Given the description of an element on the screen output the (x, y) to click on. 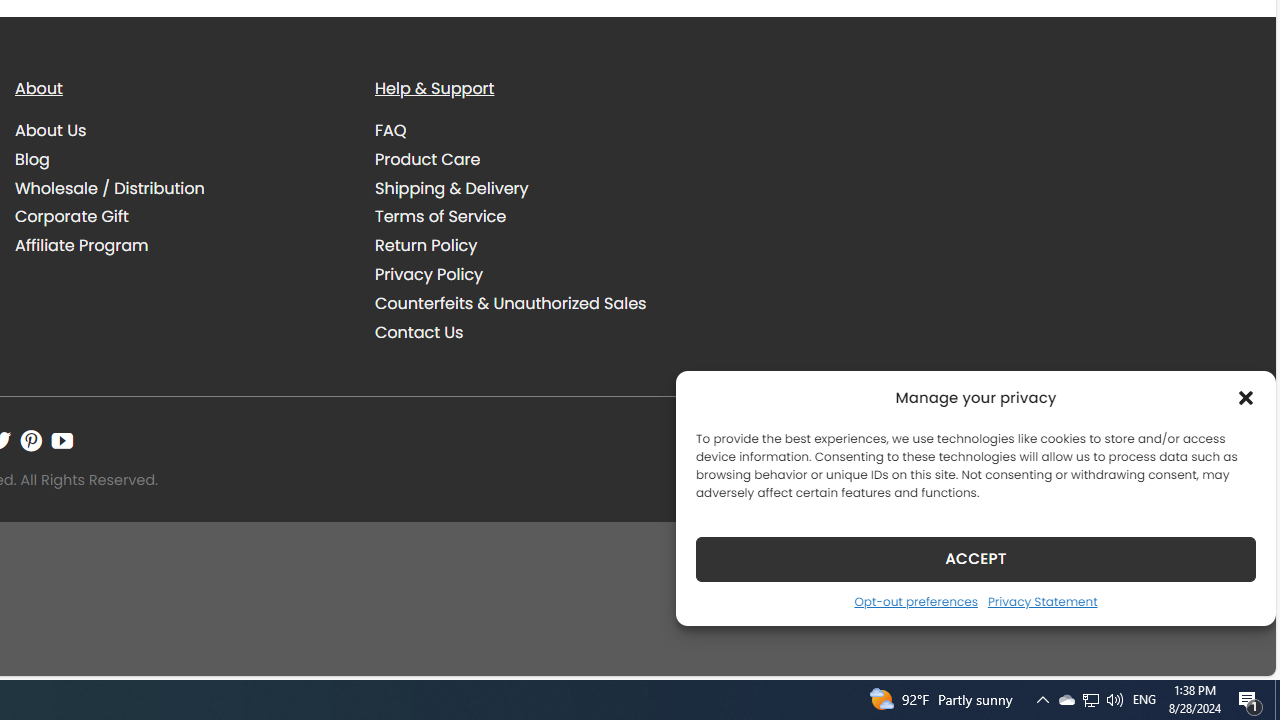
FAQ (391, 130)
Corporate Gift (72, 216)
Wholesale / Distribution (109, 187)
Terms of Service (540, 216)
Affiliate Program (81, 245)
Wholesale / Distribution (180, 188)
Go to top (1234, 647)
Class: cmplz-close (1245, 397)
Privacy Statement (1042, 601)
Product Care (428, 158)
Affiliate Program (180, 246)
About Us (51, 130)
Product Care (540, 159)
